Given the description of an element on the screen output the (x, y) to click on. 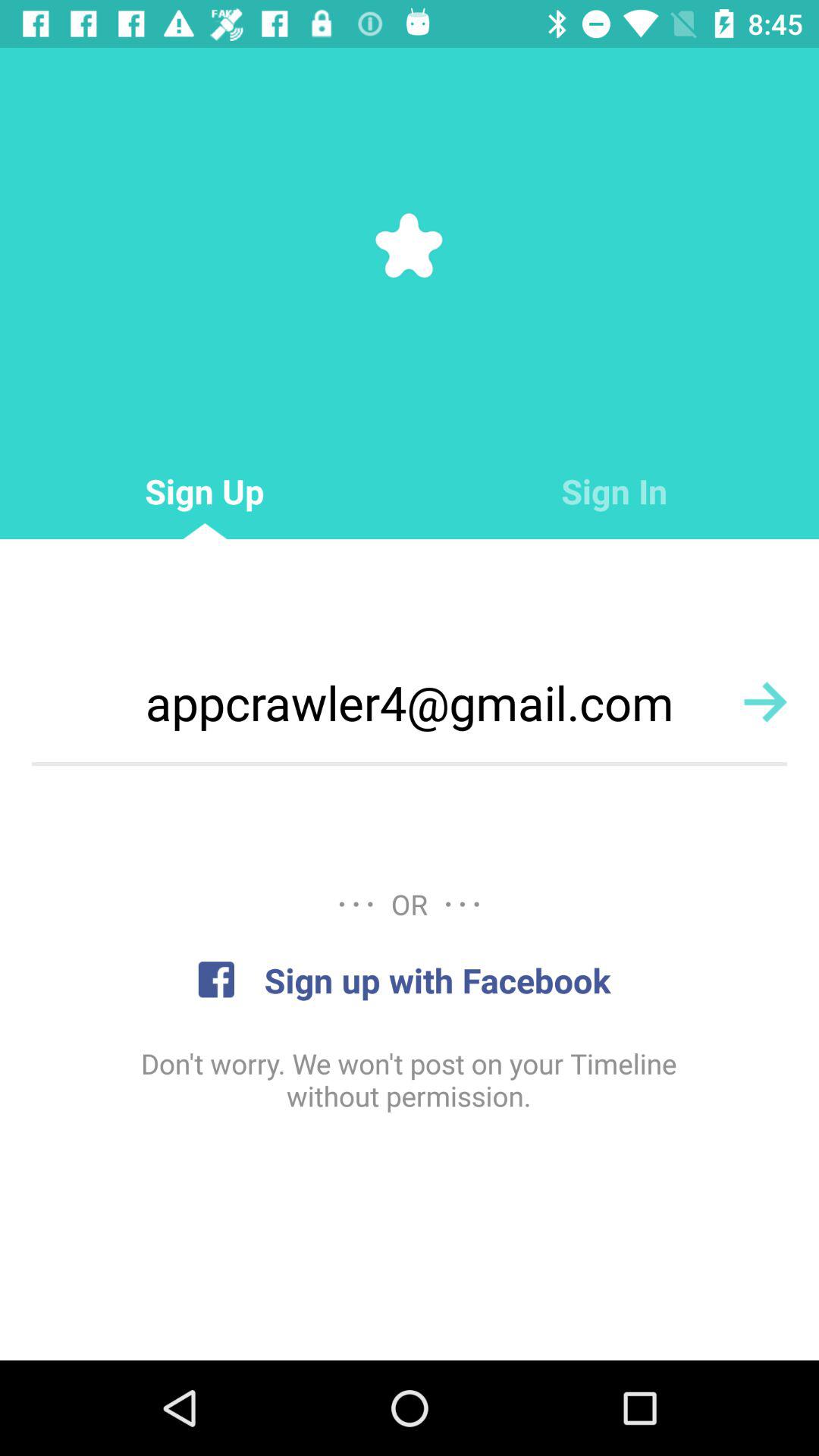
select item to the right of the sign up (614, 491)
